Given the description of an element on the screen output the (x, y) to click on. 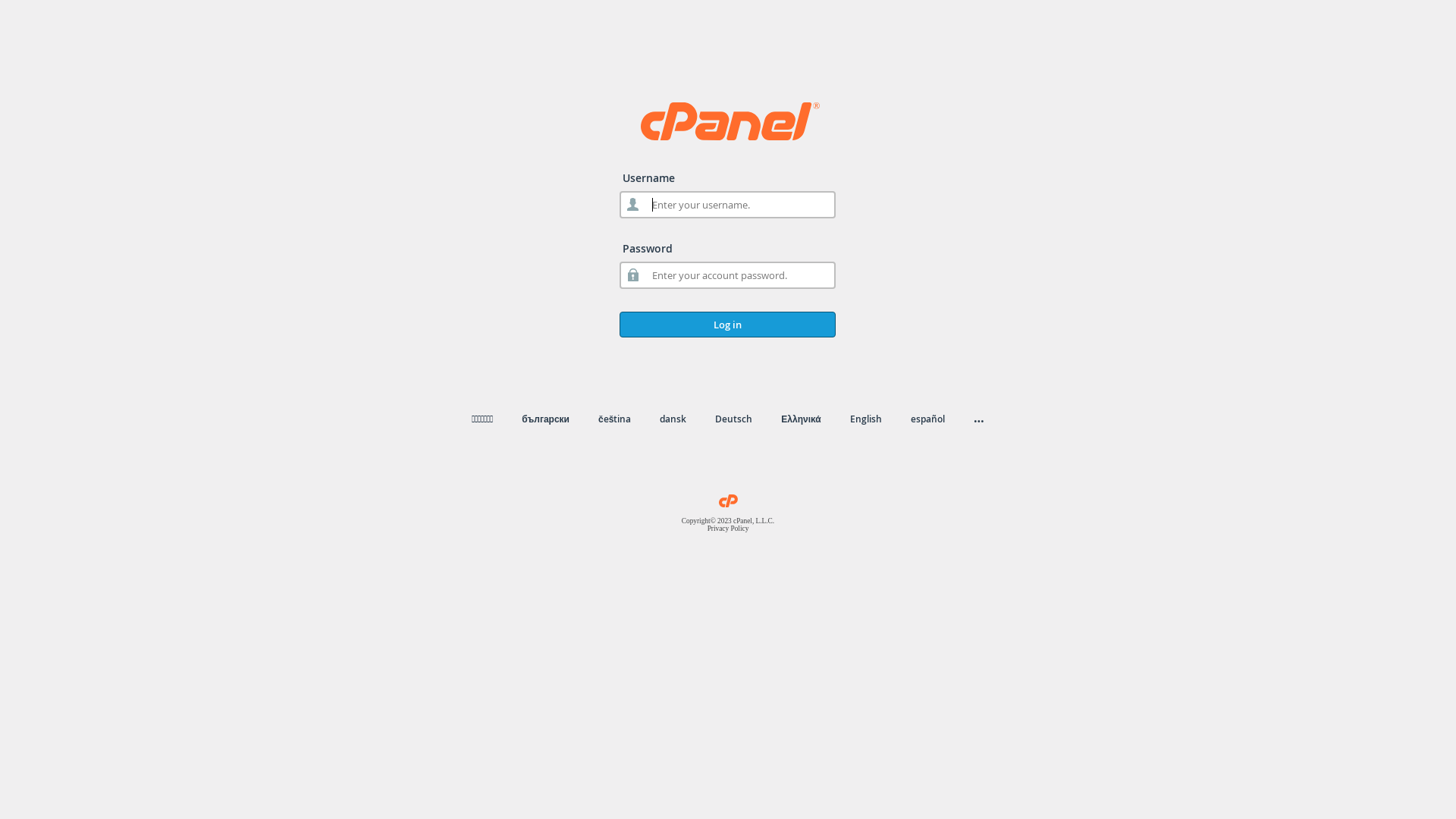
Privacy Policy Element type: text (728, 528)
dansk Element type: text (672, 418)
Deutsch Element type: text (733, 418)
English Element type: text (865, 418)
Log in Element type: text (727, 324)
